Given the description of an element on the screen output the (x, y) to click on. 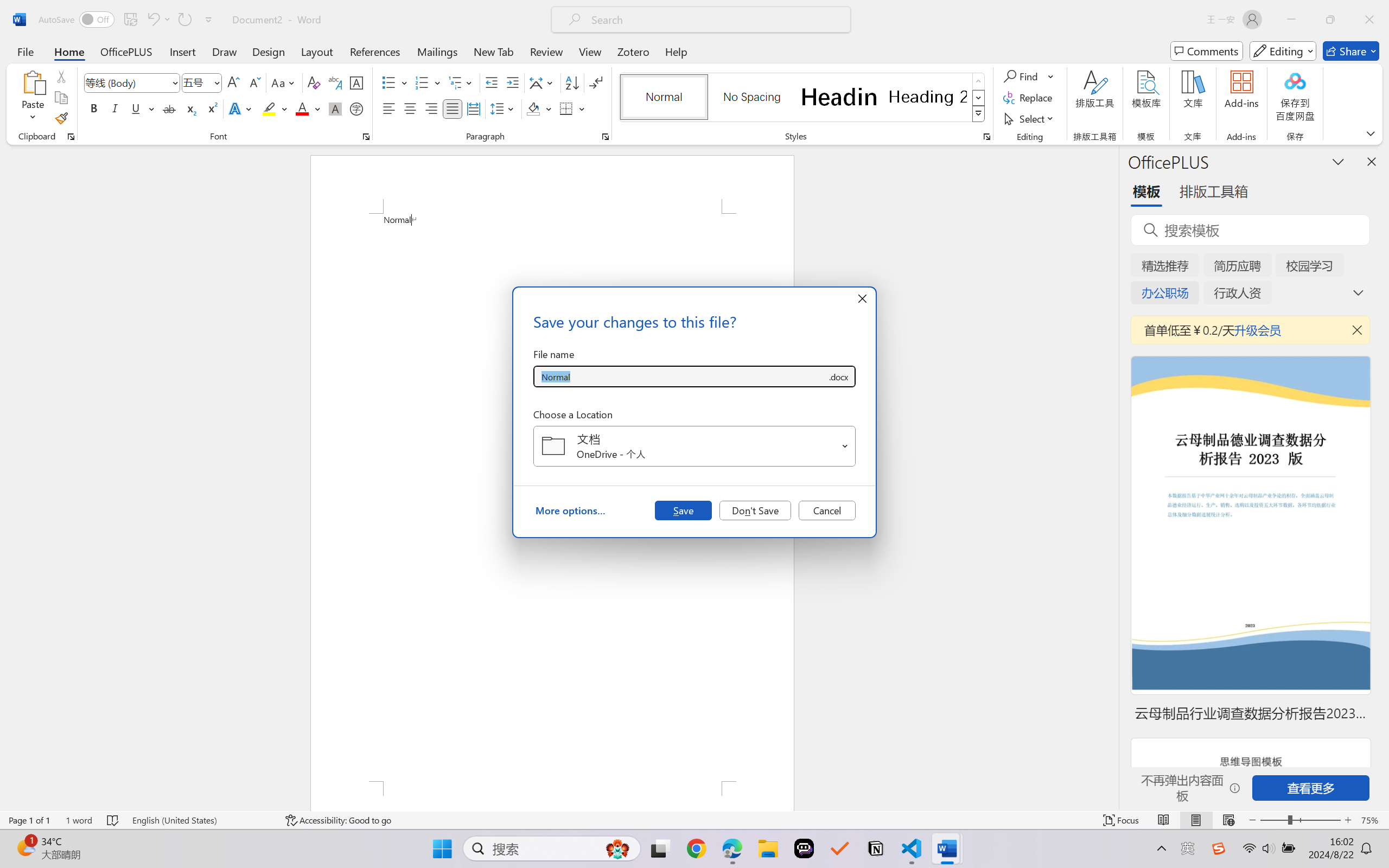
Heading 2 (927, 96)
Grow Font (233, 82)
References (375, 51)
Read Mode (1163, 819)
Styles (978, 113)
